Given the description of an element on the screen output the (x, y) to click on. 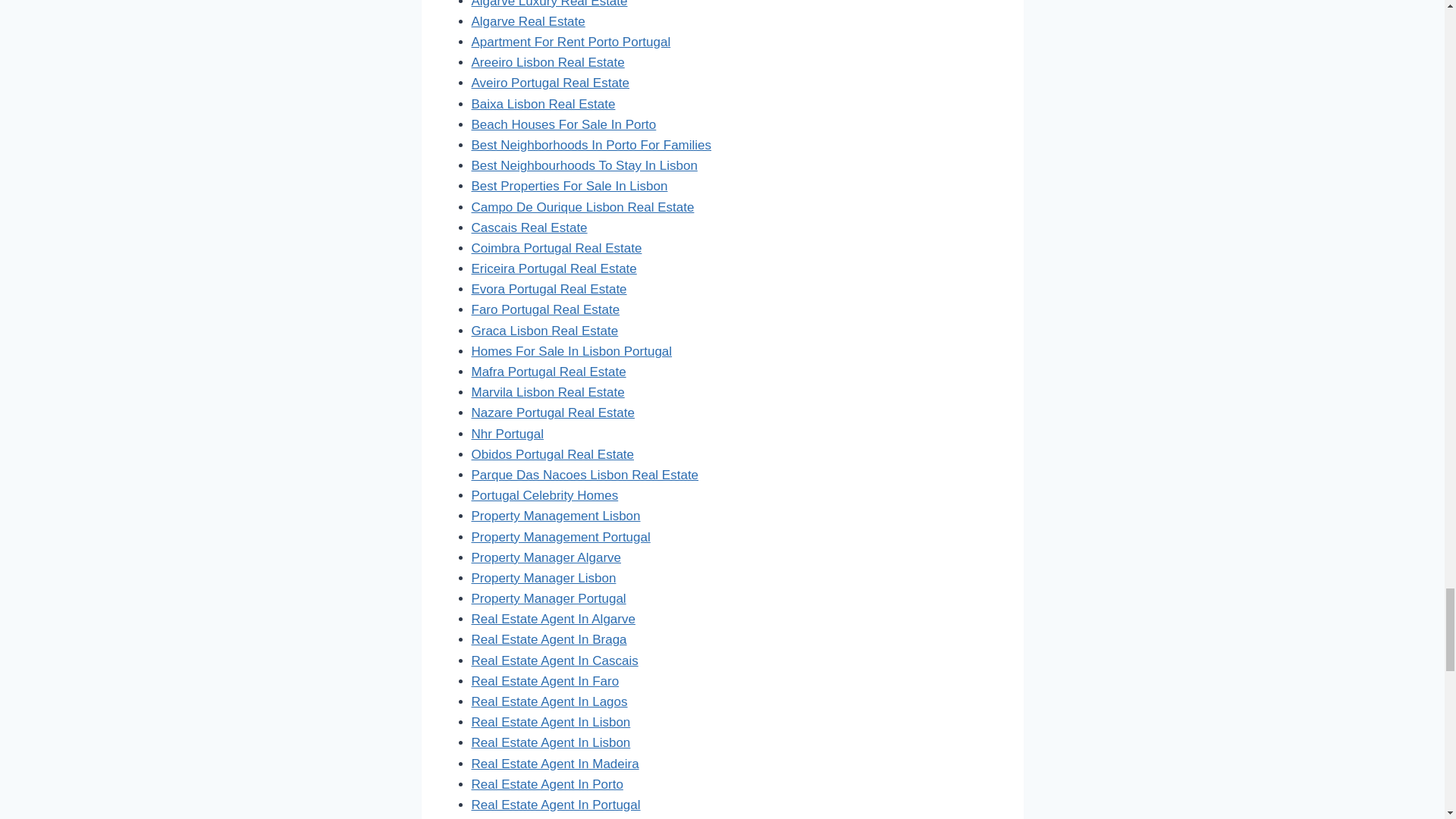
Property Management Portugal (560, 536)
Best Neighborhoods In Porto For Families (591, 145)
Graca Lisbon Real Estate (544, 330)
Ericeira Portugal Real Estate (554, 268)
Nhr Portugal (507, 433)
Coimbra Portugal Real Estate (556, 247)
Best Neighbourhoods To Stay In Lisbon (584, 165)
Nazare Portugal Real Estate (552, 412)
Mafra Portugal Real Estate (548, 371)
Evora Portugal Real Estate (549, 288)
